Given the description of an element on the screen output the (x, y) to click on. 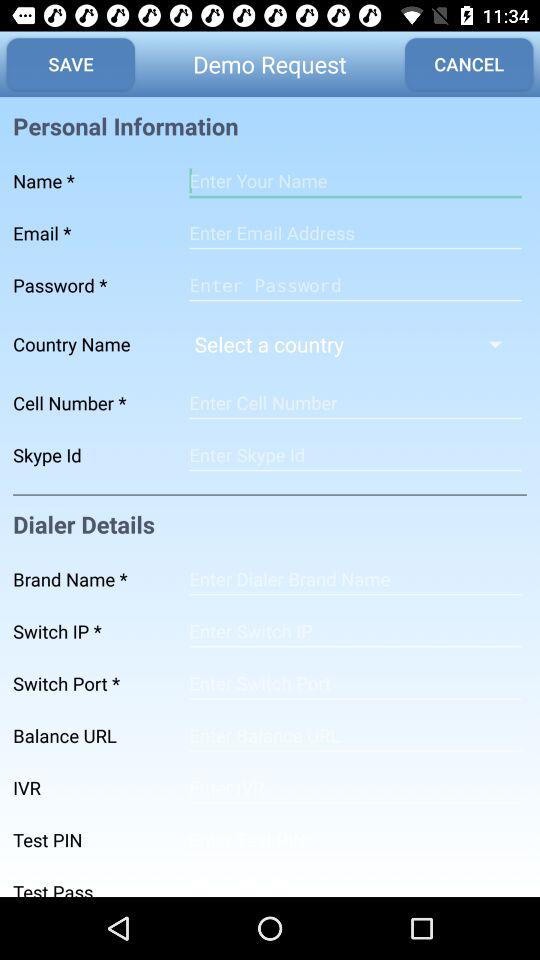
type password (355, 881)
